Given the description of an element on the screen output the (x, y) to click on. 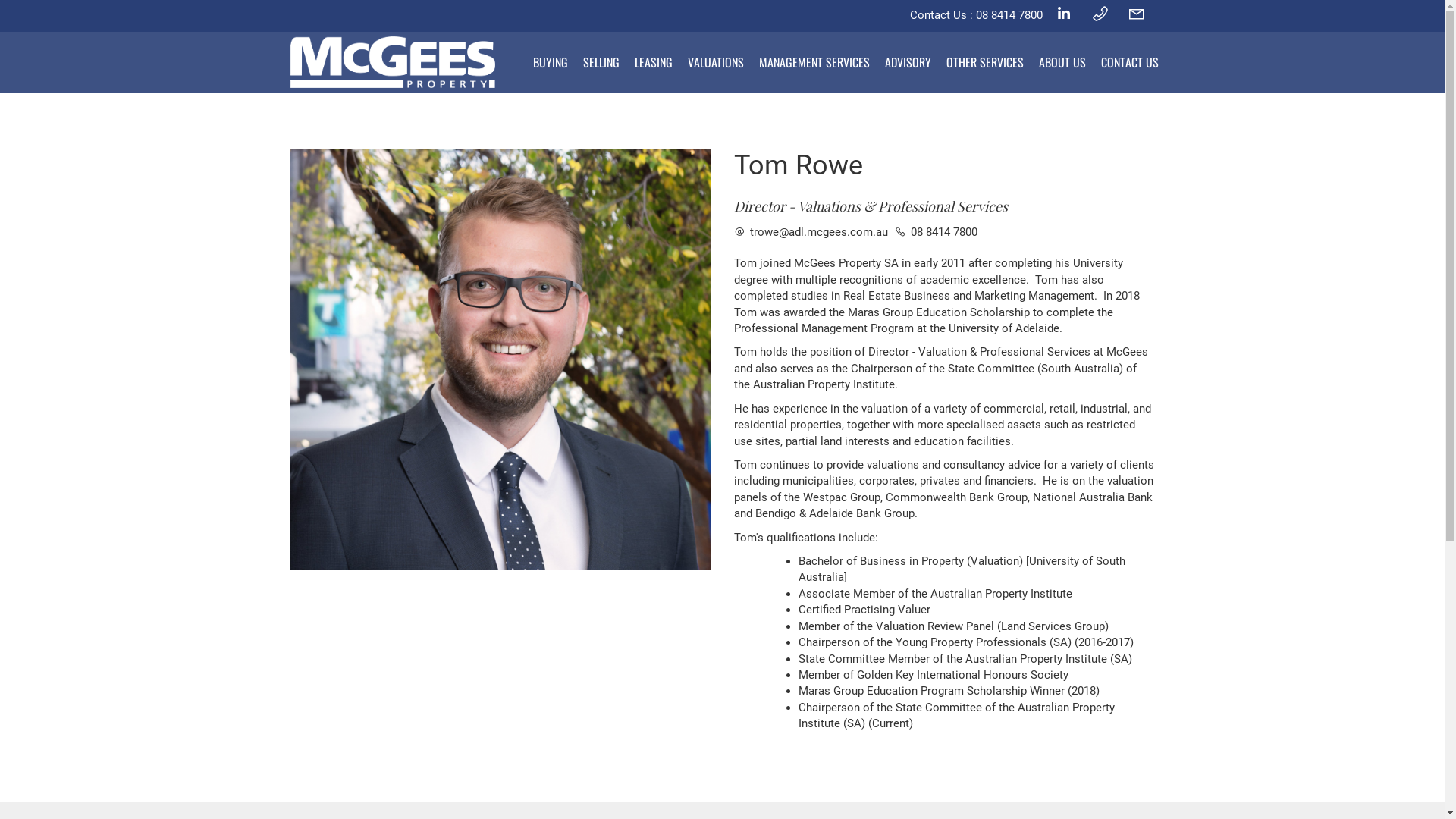
SELLING Element type: text (600, 61)
08 8414 7800 Element type: text (935, 231)
ADVISORY Element type: text (907, 61)
ABOUT US Element type: text (1062, 61)
08 8414 7800 Element type: text (1008, 14)
MANAGEMENT SERVICES Element type: text (813, 61)
trowe@adl.mcgees.com.au Element type: text (811, 231)
OTHER SERVICES Element type: text (984, 61)
VALUATIONS Element type: text (714, 61)
LEASING Element type: text (652, 61)
BUYING Element type: text (549, 61)
CONTACT US Element type: text (1129, 61)
